Given the description of an element on the screen output the (x, y) to click on. 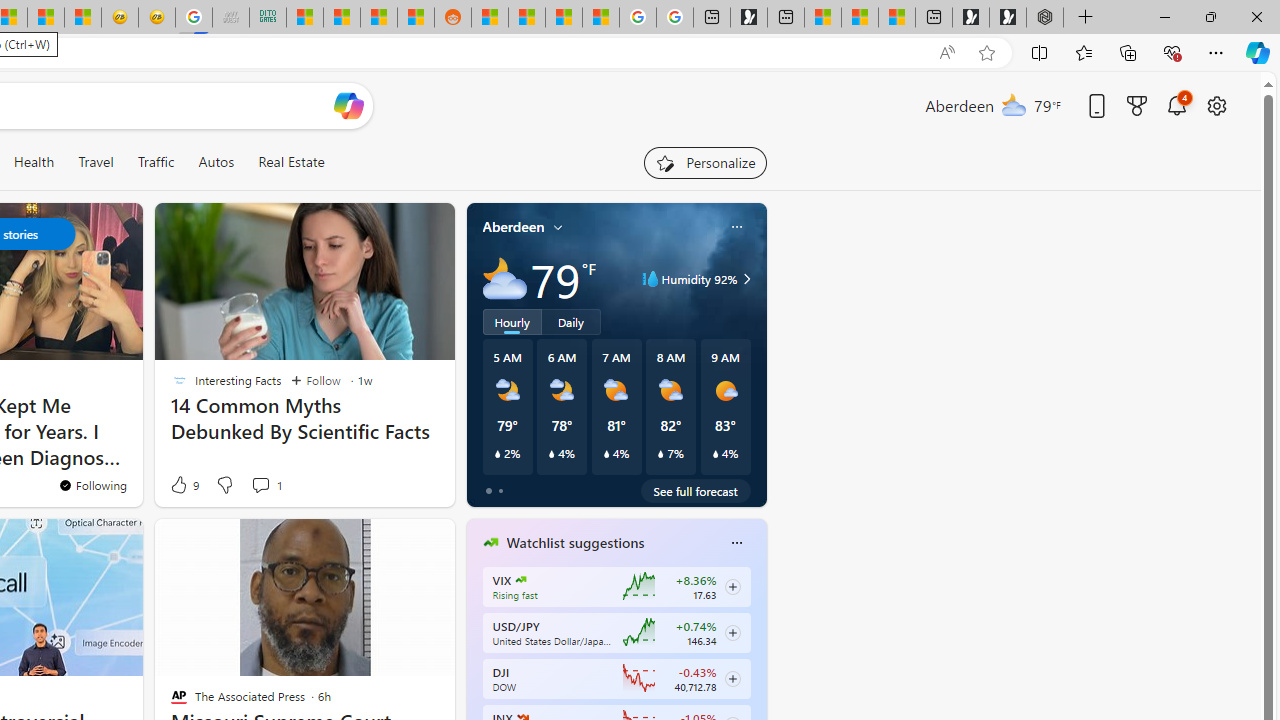
Humidity 92% (744, 278)
Real Estate (290, 162)
Class: follow-button  m (732, 678)
Aberdeen (513, 227)
My location (558, 227)
